Given the description of an element on the screen output the (x, y) to click on. 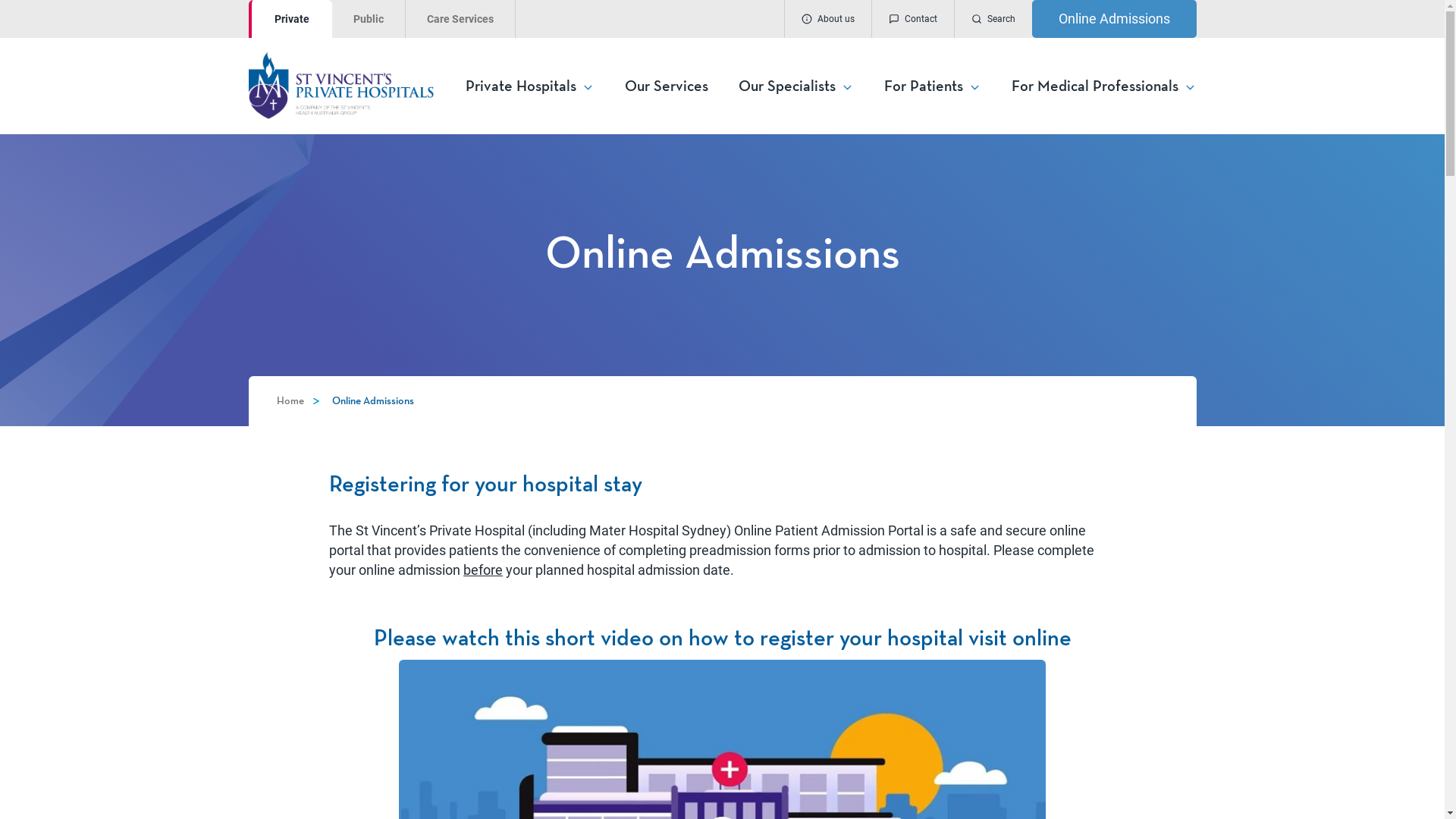
Online Admissions Element type: text (1113, 18)
Private Element type: text (290, 18)
Search Element type: text (992, 18)
Our Services Element type: text (666, 85)
St Vincents Private Hospitals Element type: text (356, 85)
Our Specialists Element type: text (795, 85)
About us Element type: text (827, 18)
Care Services Element type: text (459, 18)
Public Element type: text (368, 18)
For Medical Professionals Element type: text (1103, 85)
For Patients Element type: text (932, 85)
Private Hospitals Element type: text (529, 85)
Home Element type: text (289, 400)
Contact Element type: text (911, 18)
